Given the description of an element on the screen output the (x, y) to click on. 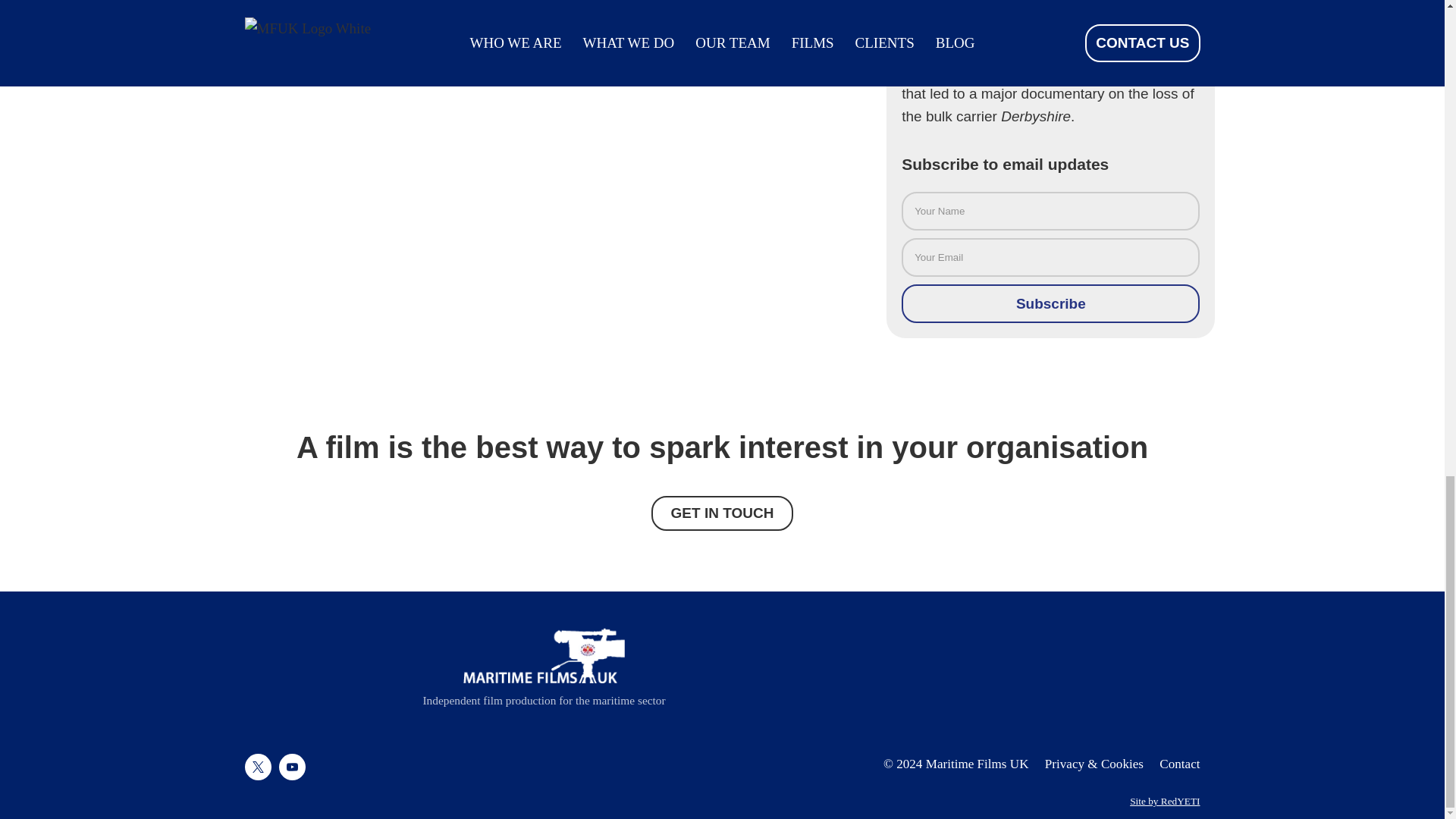
Site by RedYETI (1164, 800)
X (257, 766)
Contact (1178, 763)
Subscribe (1050, 303)
Youtube (292, 766)
GET IN TOUCH (721, 513)
